Given the description of an element on the screen output the (x, y) to click on. 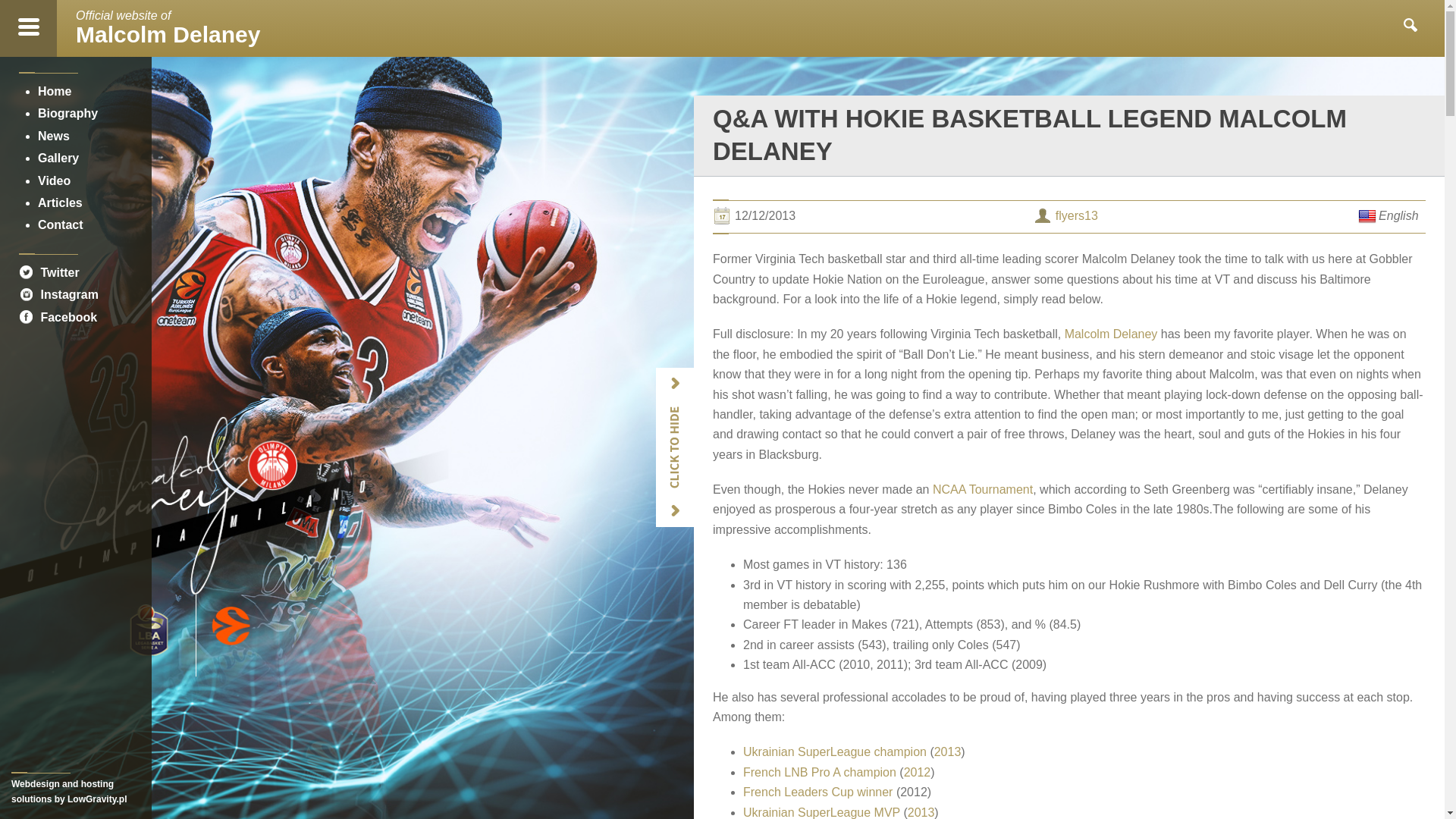
French LNB Pro A champion (819, 771)
Leaders Cup (817, 791)
Home (54, 91)
Webdesign and hosting solutions by LowGravity.pl (75, 789)
2013 (947, 751)
Ukrainian Basketball SuperLeague (834, 751)
Open nav (28, 28)
Ukrainian SuperLeague champion (834, 751)
NCAA Tournament (167, 27)
Gallery (982, 489)
French Leaders Cup winner (57, 157)
Ukrainian SuperLeague MVP (817, 791)
Facebook (820, 812)
Ukrainian Basketball SuperLeague (57, 317)
